Given the description of an element on the screen output the (x, y) to click on. 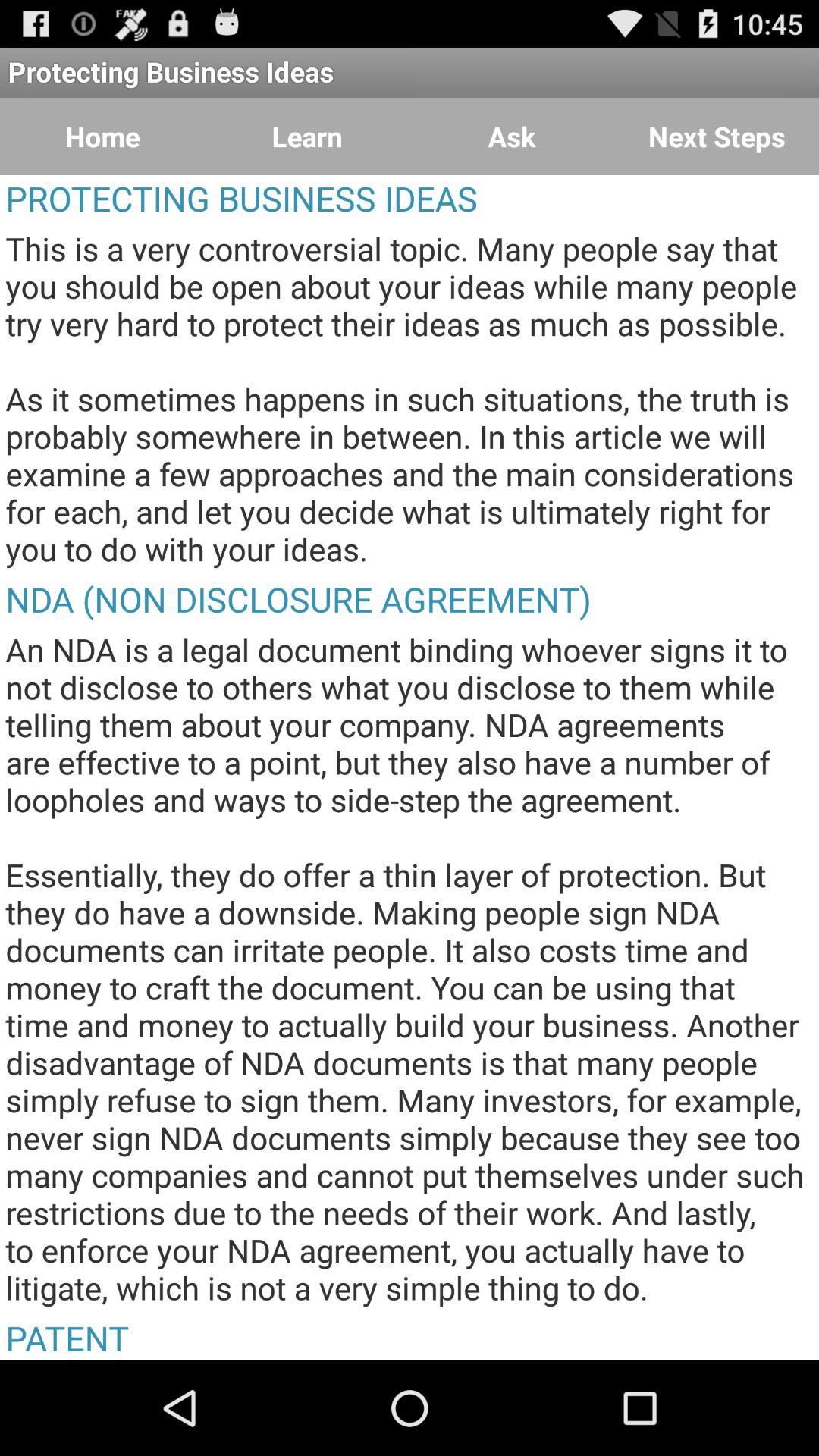
open the icon at the top left corner (102, 136)
